Given the description of an element on the screen output the (x, y) to click on. 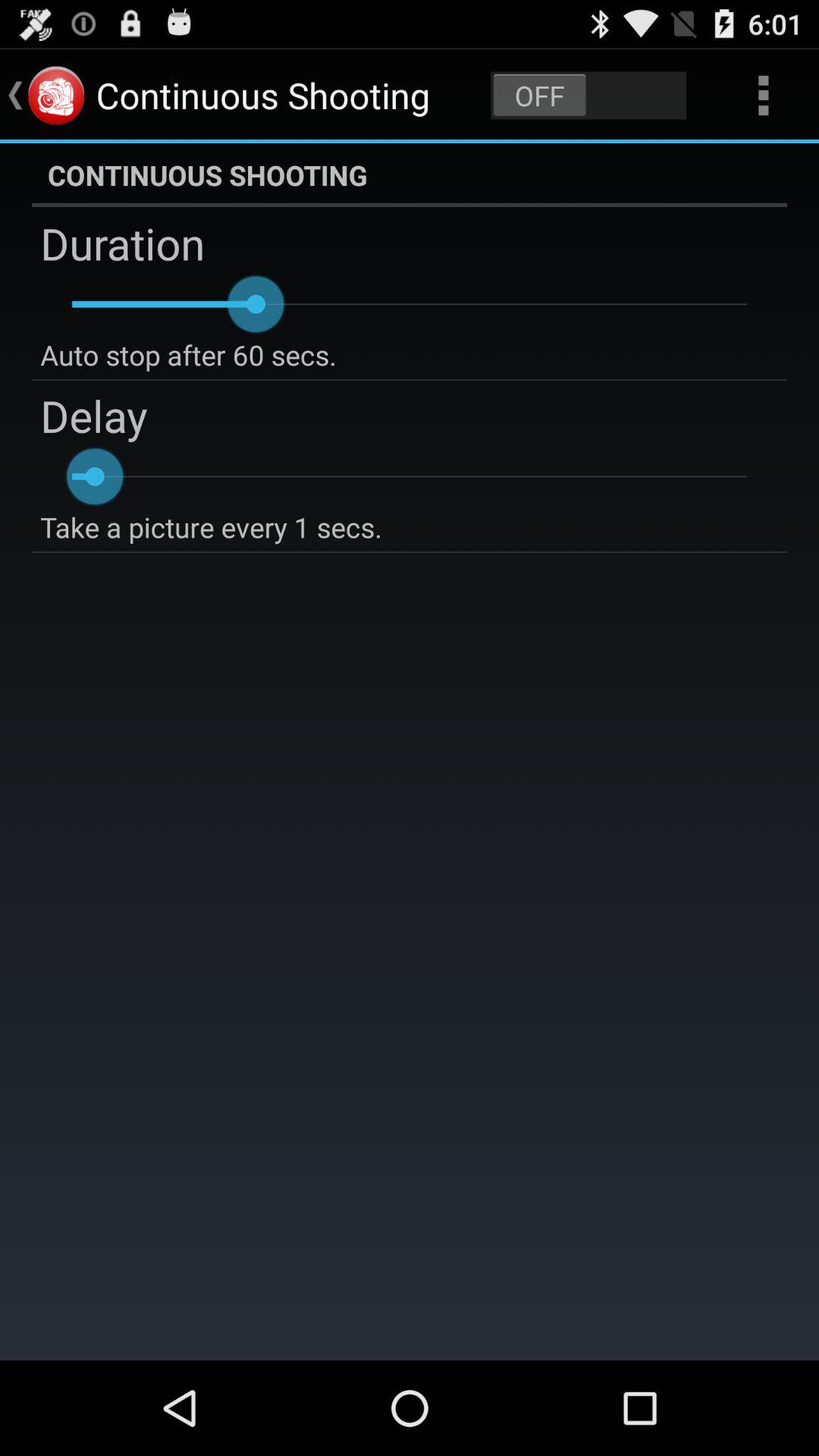
switch continuous shooting option (588, 95)
